Given the description of an element on the screen output the (x, y) to click on. 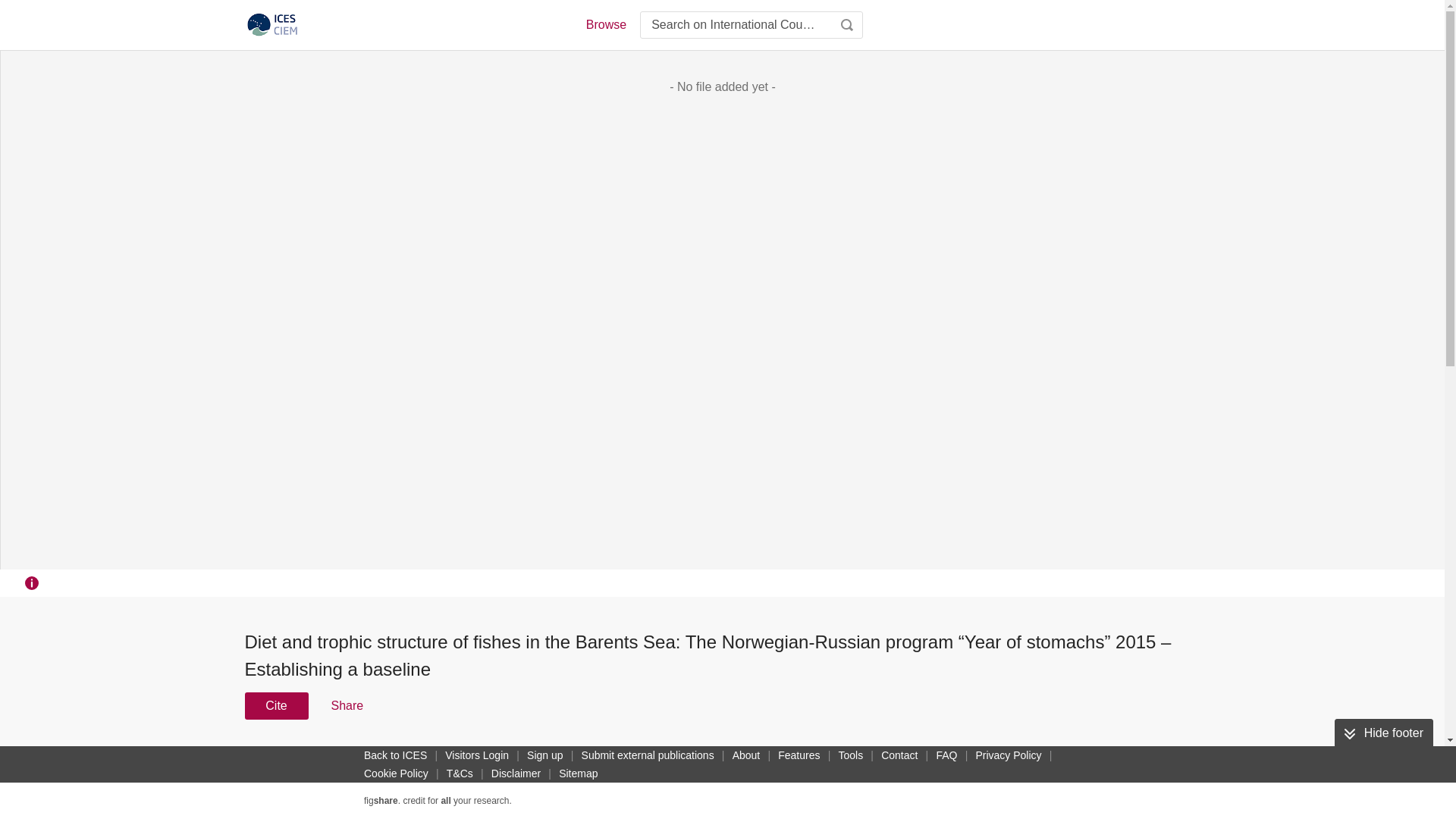
Submit external publications (647, 755)
Cookie Policy (395, 773)
Share (346, 705)
About (746, 755)
Cite (275, 705)
USAGE METRICS (976, 759)
Features (798, 755)
Privacy Policy (1008, 755)
Back to ICES (394, 755)
Hide footer (1383, 733)
